Given the description of an element on the screen output the (x, y) to click on. 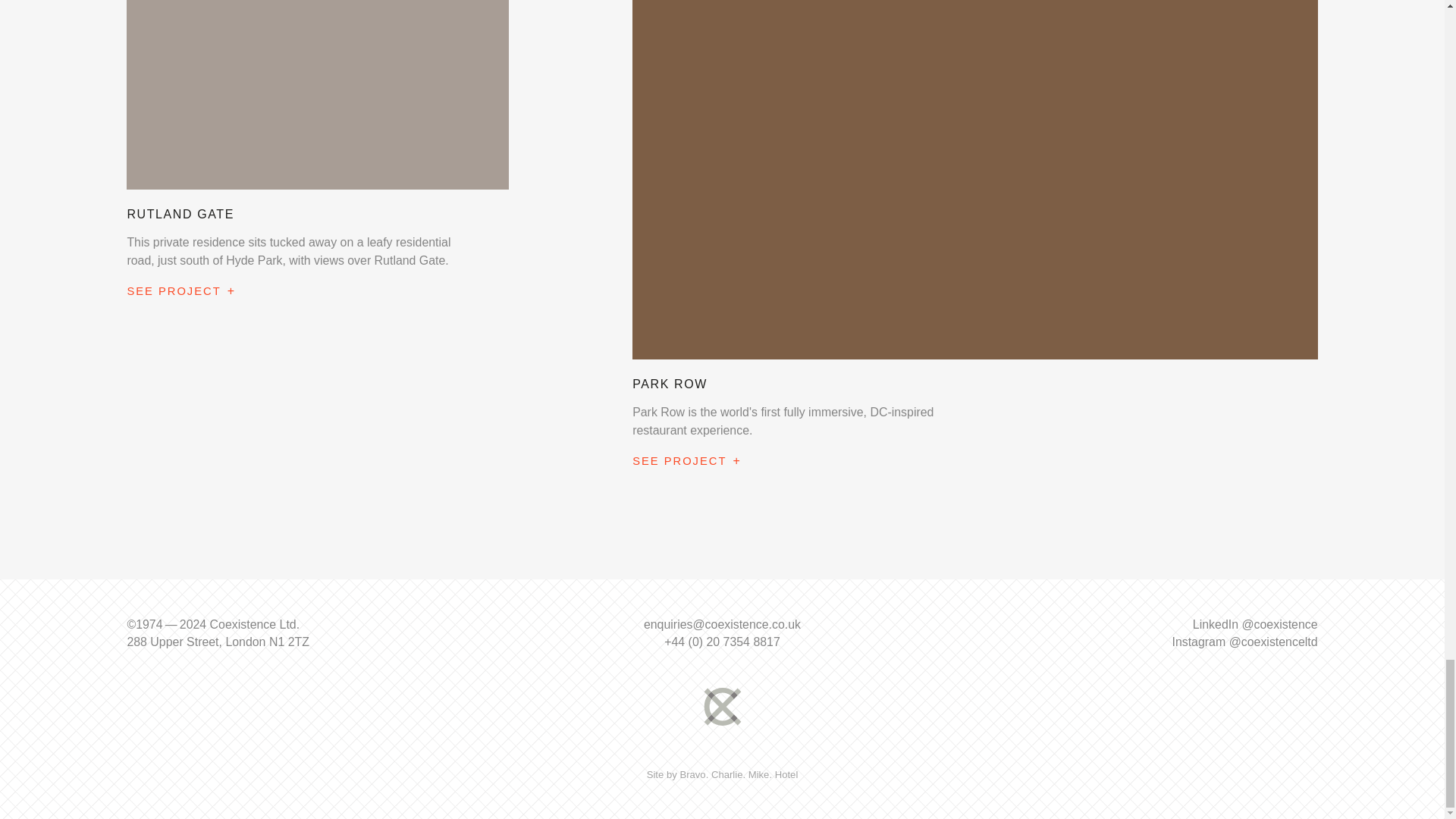
Site by Bravo. Charlie. Mike. Hotel (721, 774)
